Given the description of an element on the screen output the (x, y) to click on. 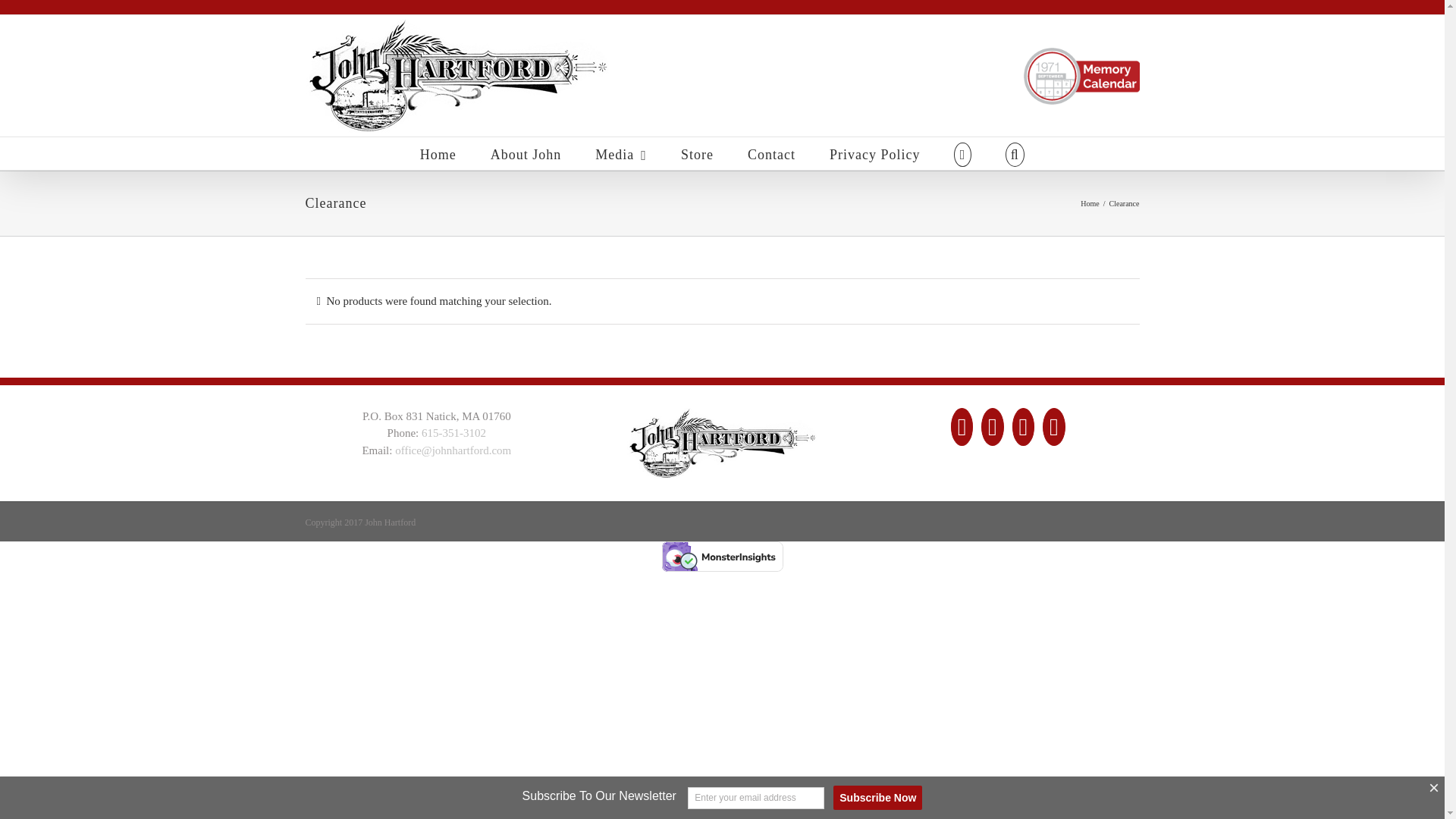
Verified by MonsterInsights (722, 556)
Store (697, 153)
Contact (771, 153)
615-351-3102 (454, 432)
Home (438, 153)
Home (1089, 203)
About John (526, 153)
Search (1015, 153)
Privacy Policy (874, 153)
Media (620, 153)
